Given the description of an element on the screen output the (x, y) to click on. 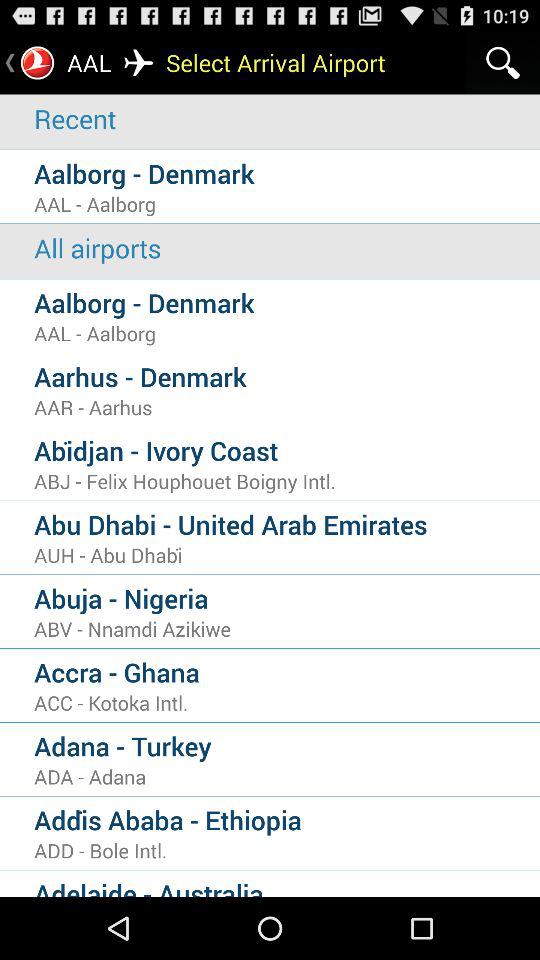
open item next to the select arrival airport item (503, 62)
